Given the description of an element on the screen output the (x, y) to click on. 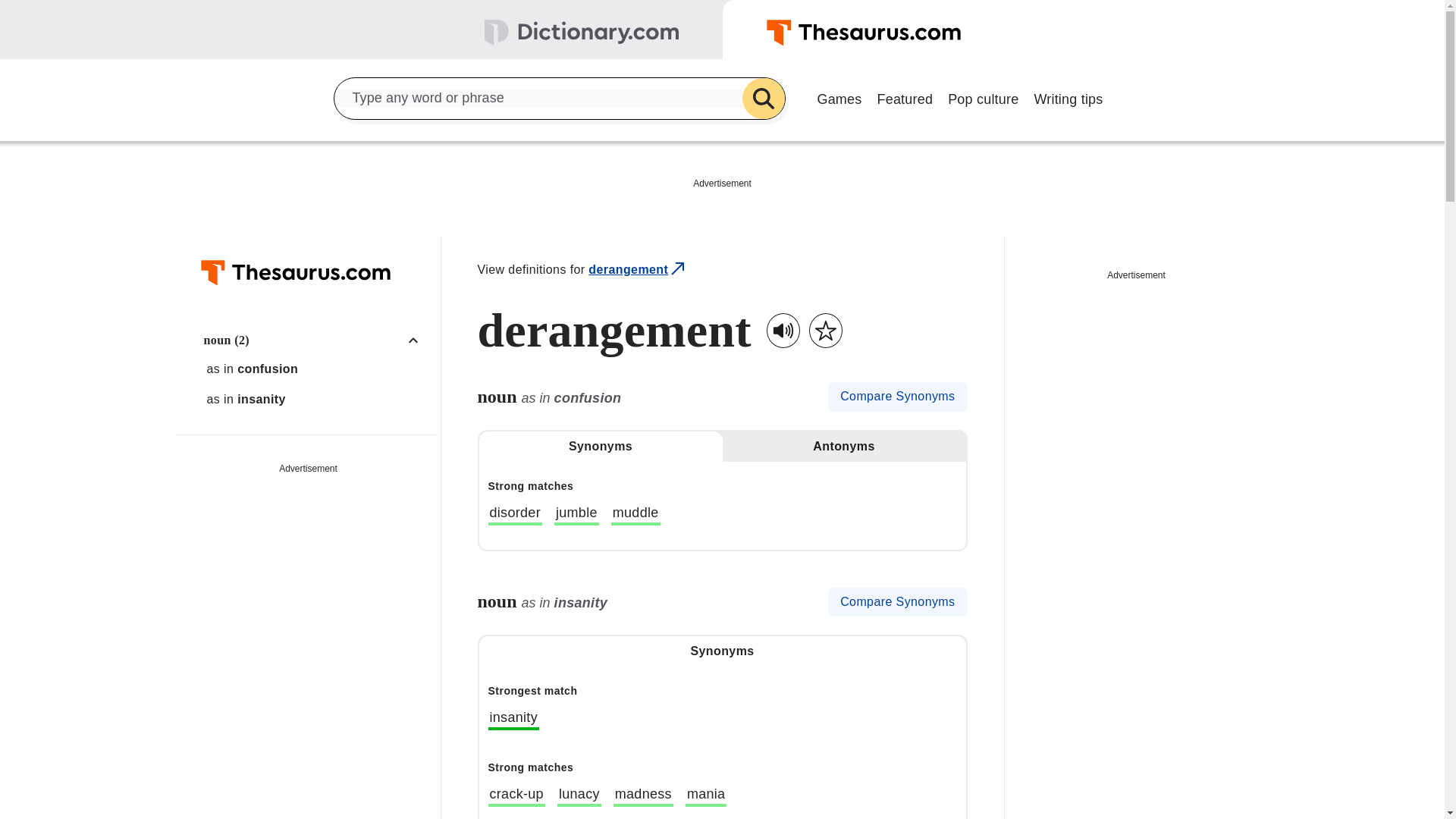
Compare Synonyms (897, 396)
as in confusion (316, 369)
Antonyms (843, 446)
as in insanity (316, 399)
derangement (637, 270)
Featured (904, 97)
Pop culture (983, 97)
Writing tips (1067, 97)
Games (839, 97)
Synonyms (600, 446)
